Given the description of an element on the screen output the (x, y) to click on. 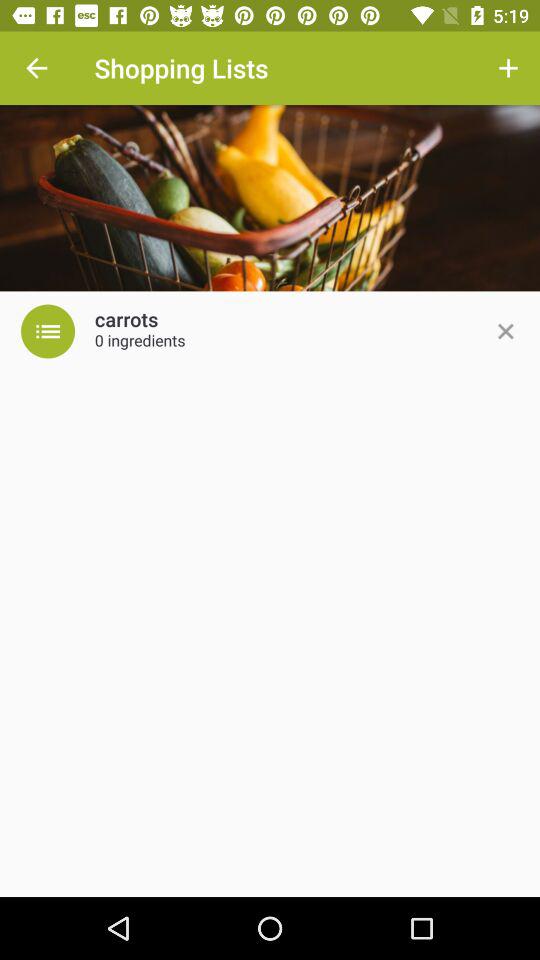
scroll to the 0 ingredients item (139, 342)
